Given the description of an element on the screen output the (x, y) to click on. 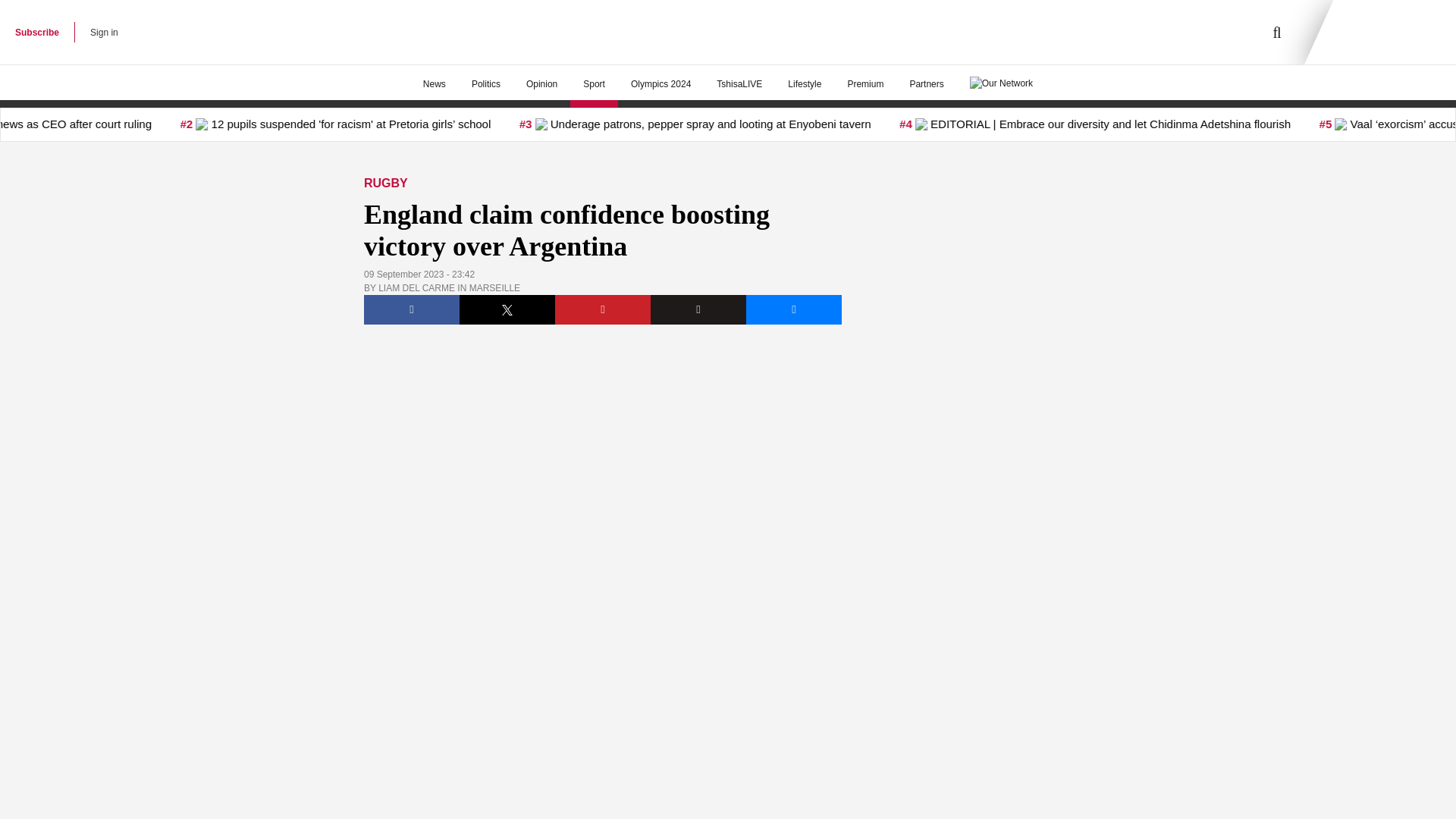
Our Network (1000, 82)
Sport (593, 84)
TshisaLIVE (738, 84)
Premium (865, 84)
Sign in (103, 32)
News (434, 84)
Partners (926, 84)
Opinion (541, 84)
Politics (485, 84)
Subscribe (36, 32)
Lifestyle (804, 84)
Olympics 2024 (660, 84)
